Given the description of an element on the screen output the (x, y) to click on. 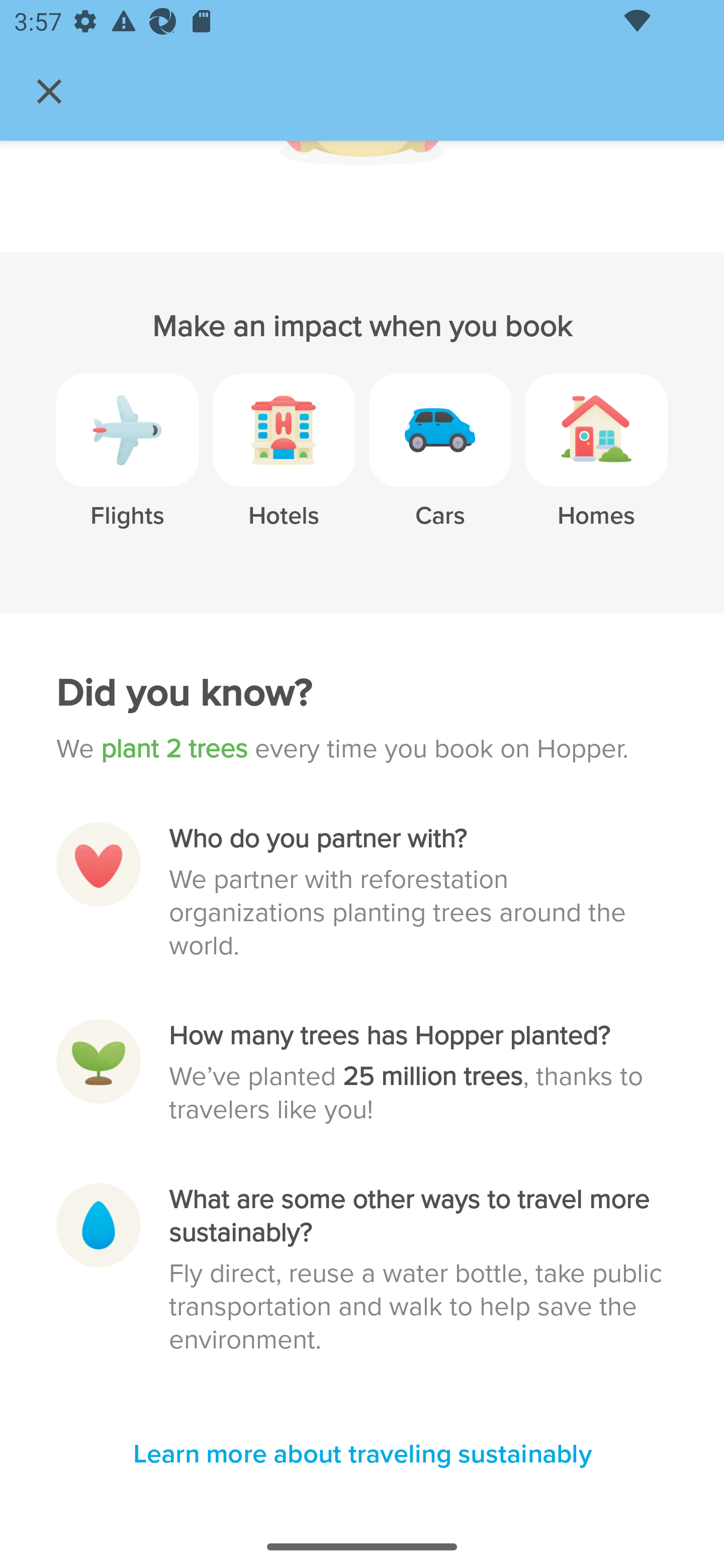
Navigate up (49, 91)
Flights (127, 464)
Hotels (283, 464)
Cars (440, 464)
Homes (596, 464)
‍Learn more about traveling sustainably (361, 1454)
